Given the description of an element on the screen output the (x, y) to click on. 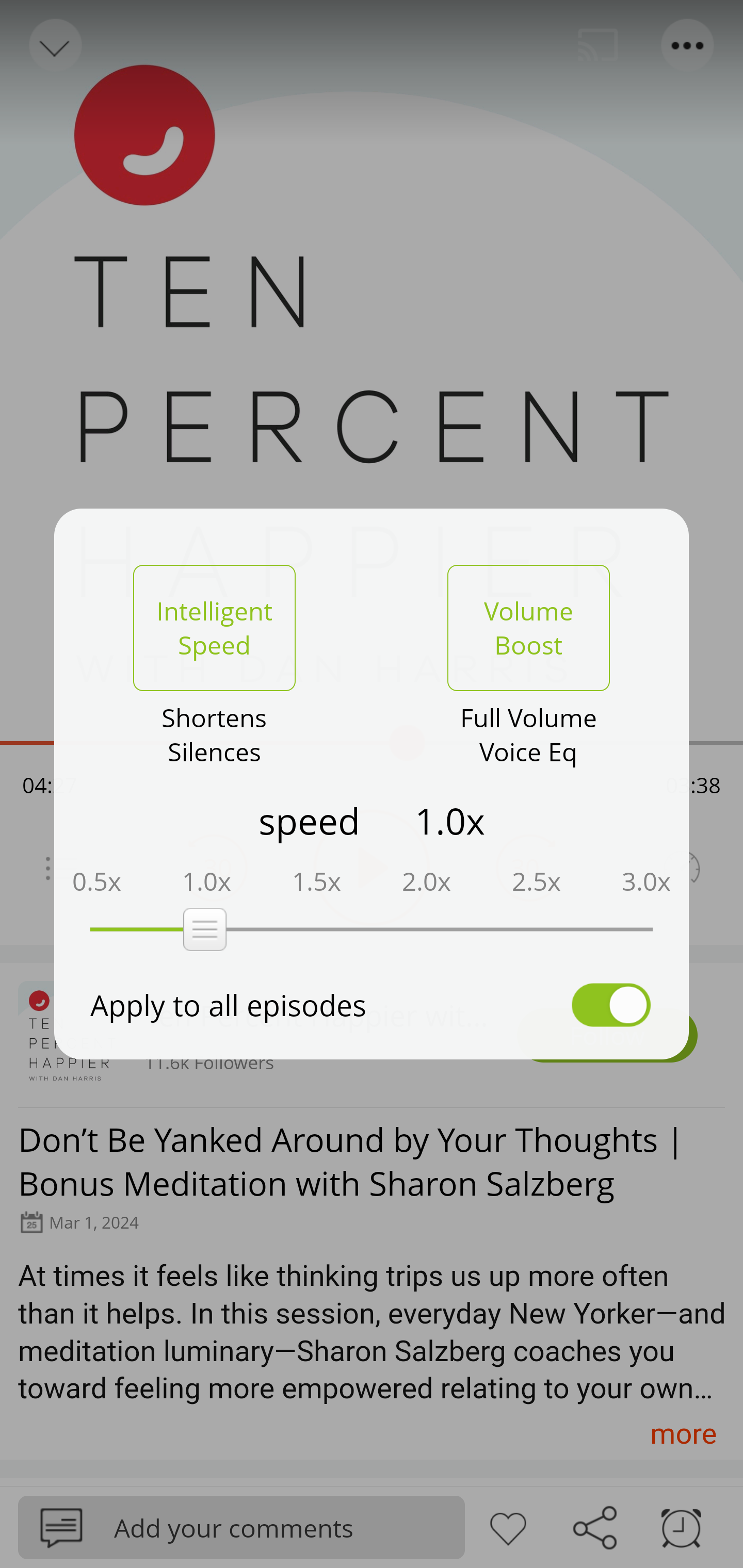
Intelligent
Speed (213, 627)
Volume
Boost (528, 627)
